Given the description of an element on the screen output the (x, y) to click on. 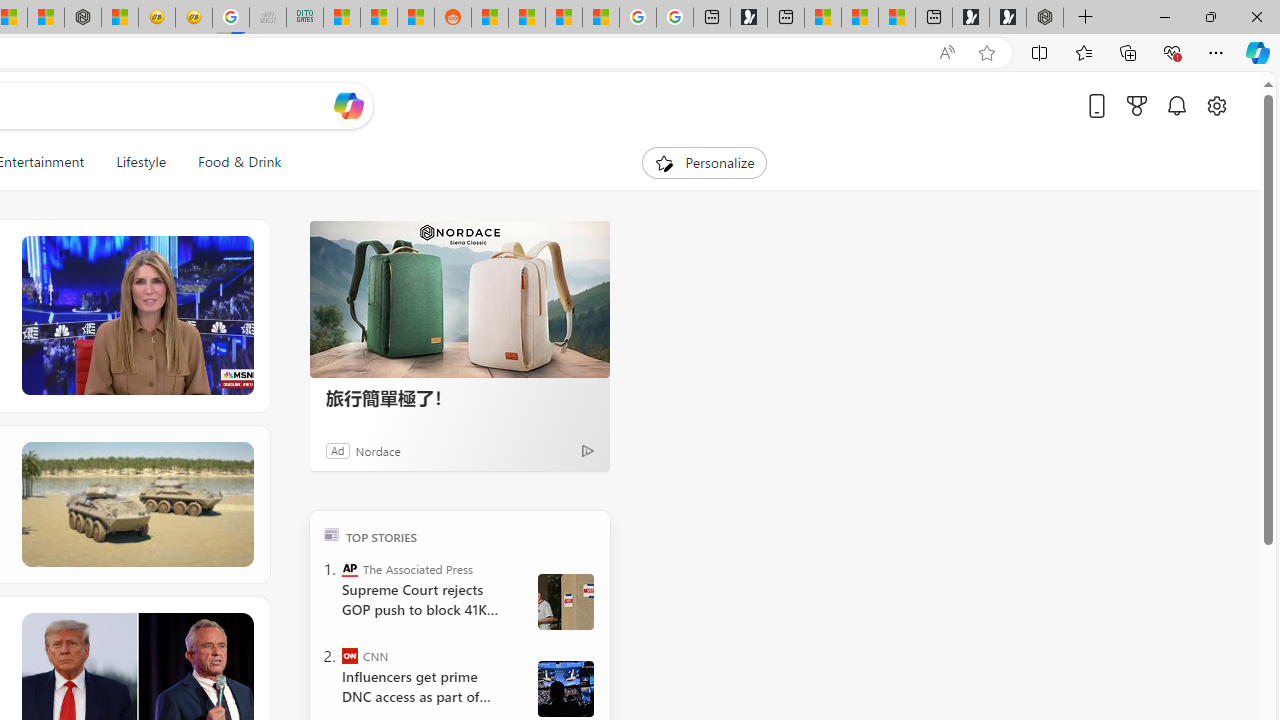
Open Copilot (347, 105)
Food & Drink (239, 162)
Nordace - Nordace Siena Is Not An Ordinary Backpack (1044, 17)
These 3 Stocks Pay You More Than 5% to Own Them (897, 17)
Lifestyle (141, 162)
MSN (415, 17)
Play Free Online Games | Games from Microsoft Start (1007, 17)
